Given the description of an element on the screen output the (x, y) to click on. 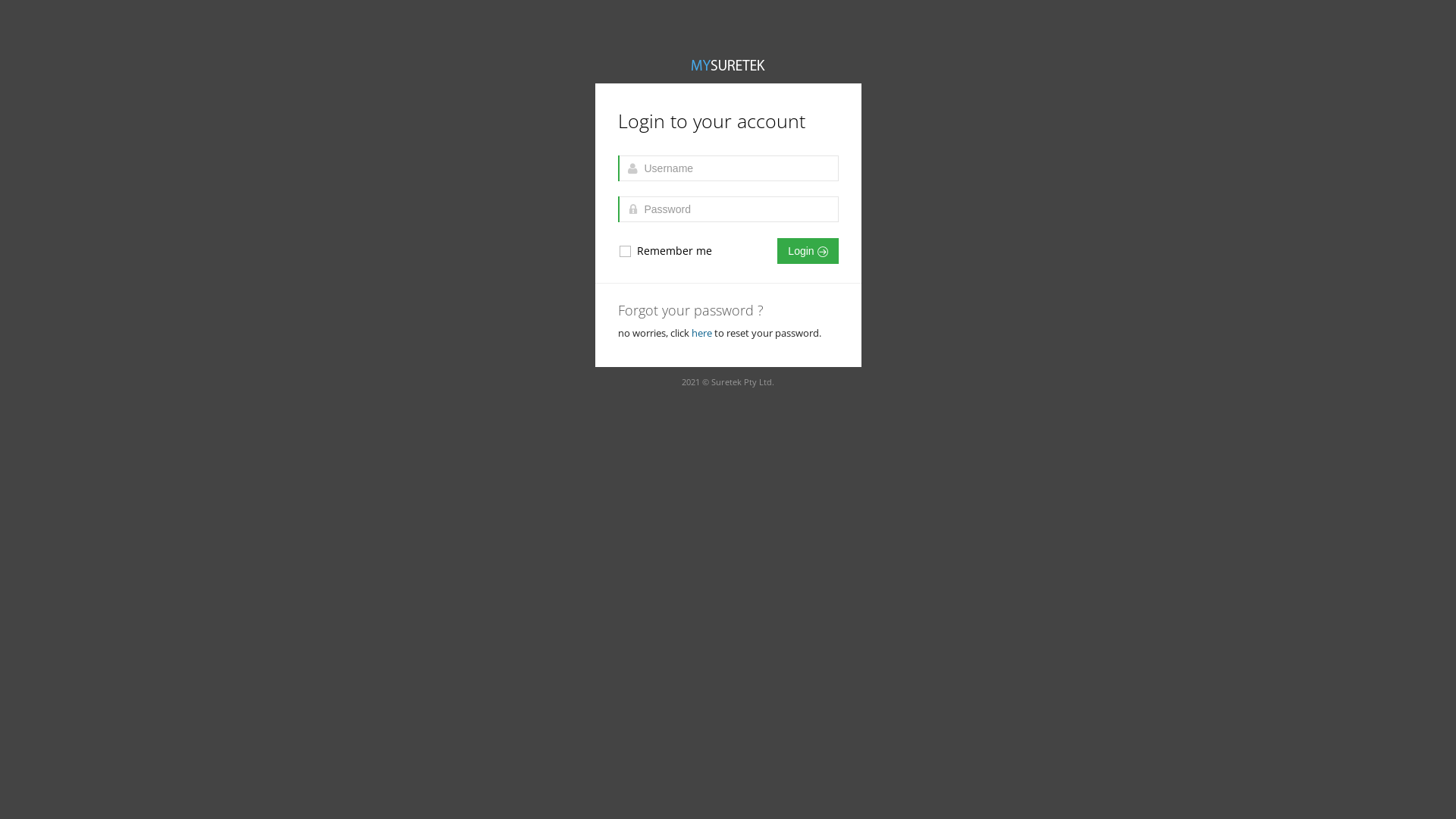
here Element type: text (701, 332)
Login Element type: text (807, 250)
